Given the description of an element on the screen output the (x, y) to click on. 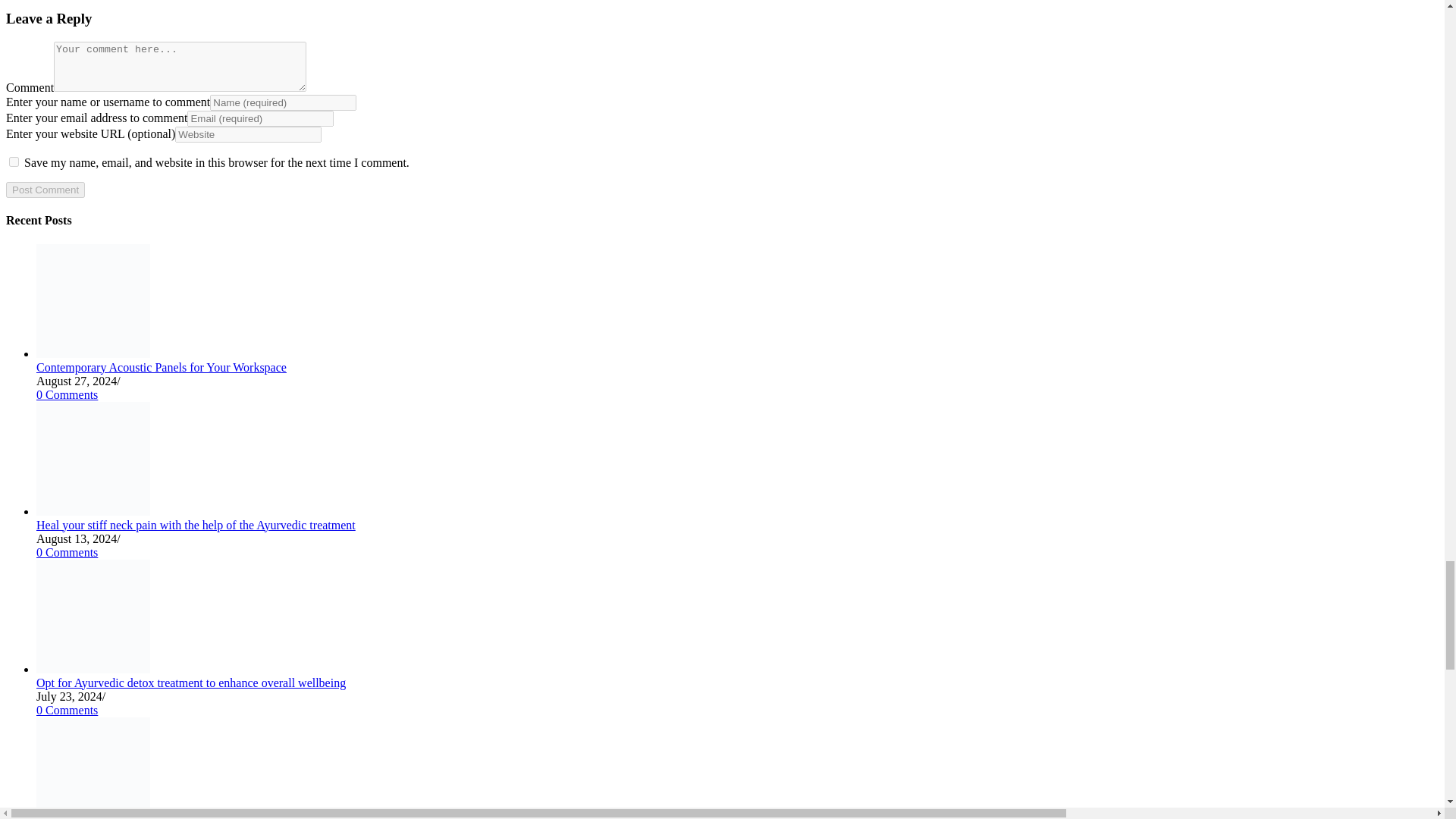
yes (13, 162)
Post Comment (44, 189)
Post Comment (44, 189)
Contemporary Acoustic Panels for Your Workspace (92, 353)
